Given the description of an element on the screen output the (x, y) to click on. 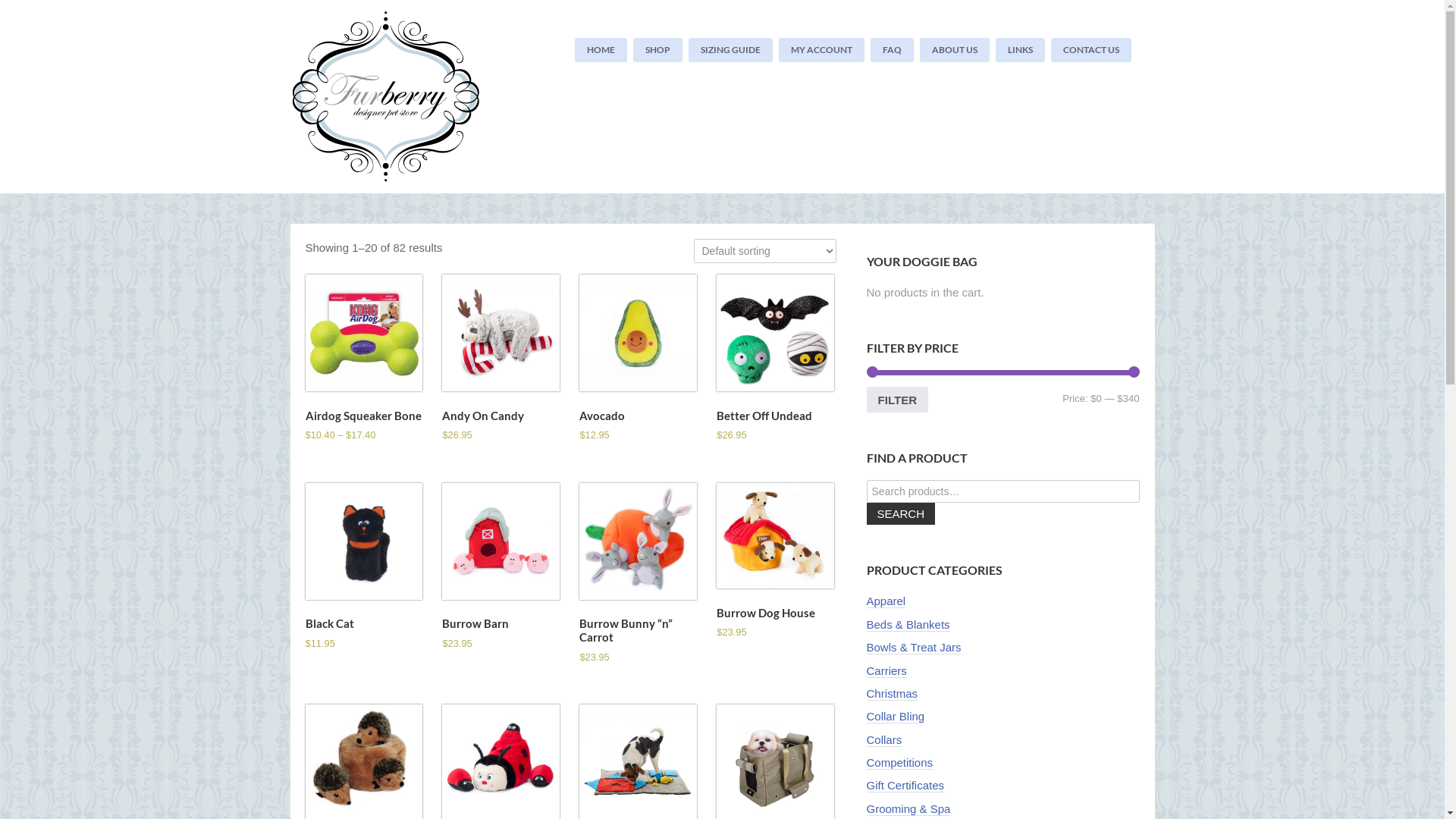
FAQ Element type: text (891, 49)
Beds & Blankets Element type: text (907, 624)
CONTACT US Element type: text (1091, 49)
Burrow Dog House
$23.95 Element type: text (774, 562)
Collars Element type: text (883, 739)
LINKS Element type: text (1019, 49)
Christmas Element type: text (891, 693)
SIZING GUIDE Element type: text (730, 49)
Better Off Undead
$26.95 Element type: text (774, 358)
Bowls & Treat Jars Element type: text (913, 647)
SEARCH Element type: text (900, 513)
ABOUT US Element type: text (954, 49)
Apparel Element type: text (885, 601)
HOME Element type: text (600, 49)
Black Cat
$11.95 Element type: text (362, 567)
Collar Bling Element type: text (895, 716)
SHOP Element type: text (657, 49)
Carriers Element type: text (886, 670)
FILTER Element type: text (897, 399)
Andy On Candy
$26.95 Element type: text (500, 358)
Grooming & Spa Element type: text (908, 808)
Avocado
$12.95 Element type: text (637, 358)
FURBERRY PET SUPPLIES Element type: text (395, 96)
Gift Certificates Element type: text (905, 785)
MY ACCOUNT Element type: text (821, 49)
Competitions Element type: text (899, 762)
Burrow Barn
$23.95 Element type: text (500, 567)
